Given the description of an element on the screen output the (x, y) to click on. 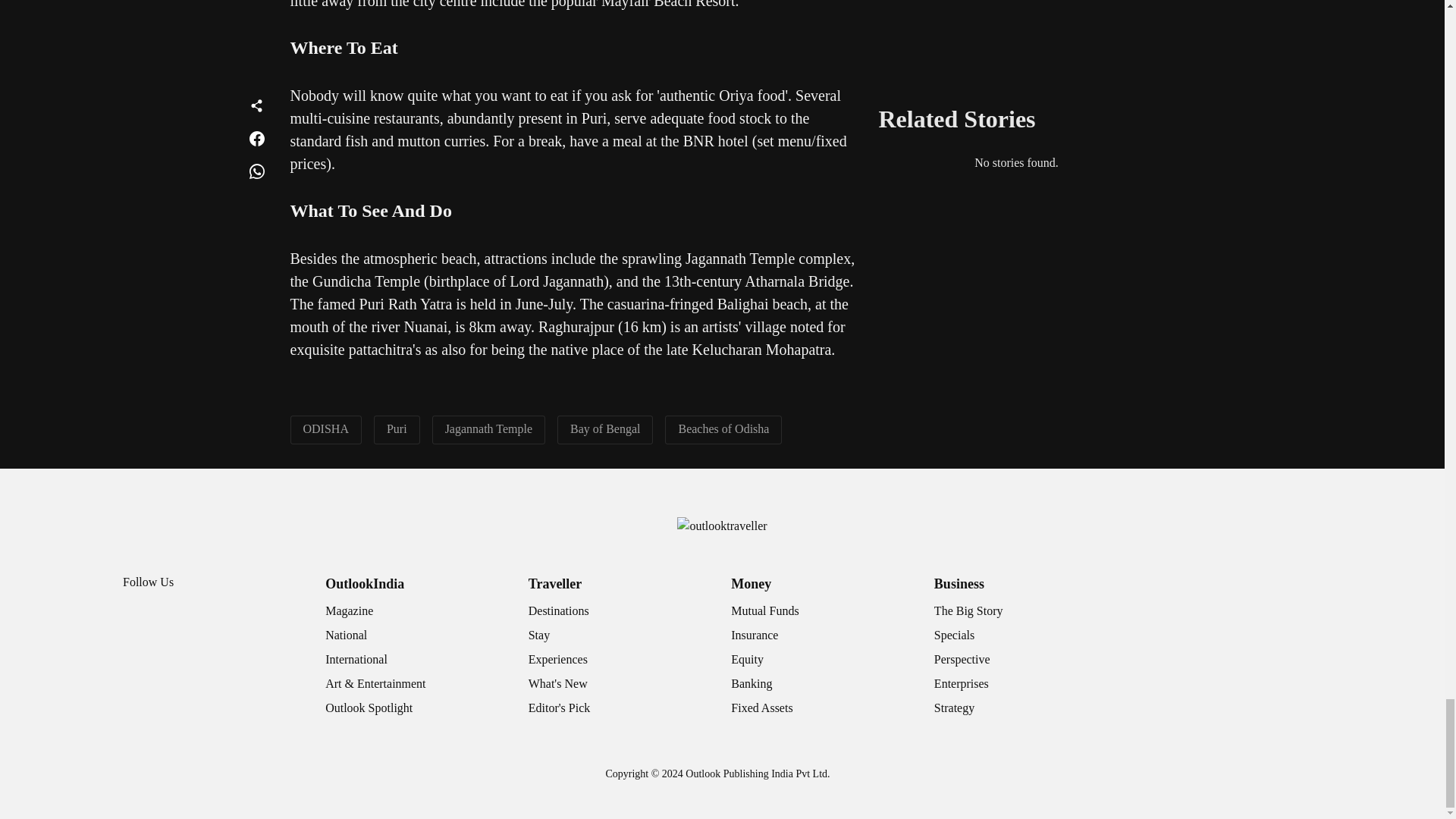
Beaches of Odisha (723, 428)
OutlookIndia (364, 583)
Puri (397, 428)
Bay of Bengal (605, 428)
Jagannath Temple (488, 428)
ODISHA (325, 428)
